Given the description of an element on the screen output the (x, y) to click on. 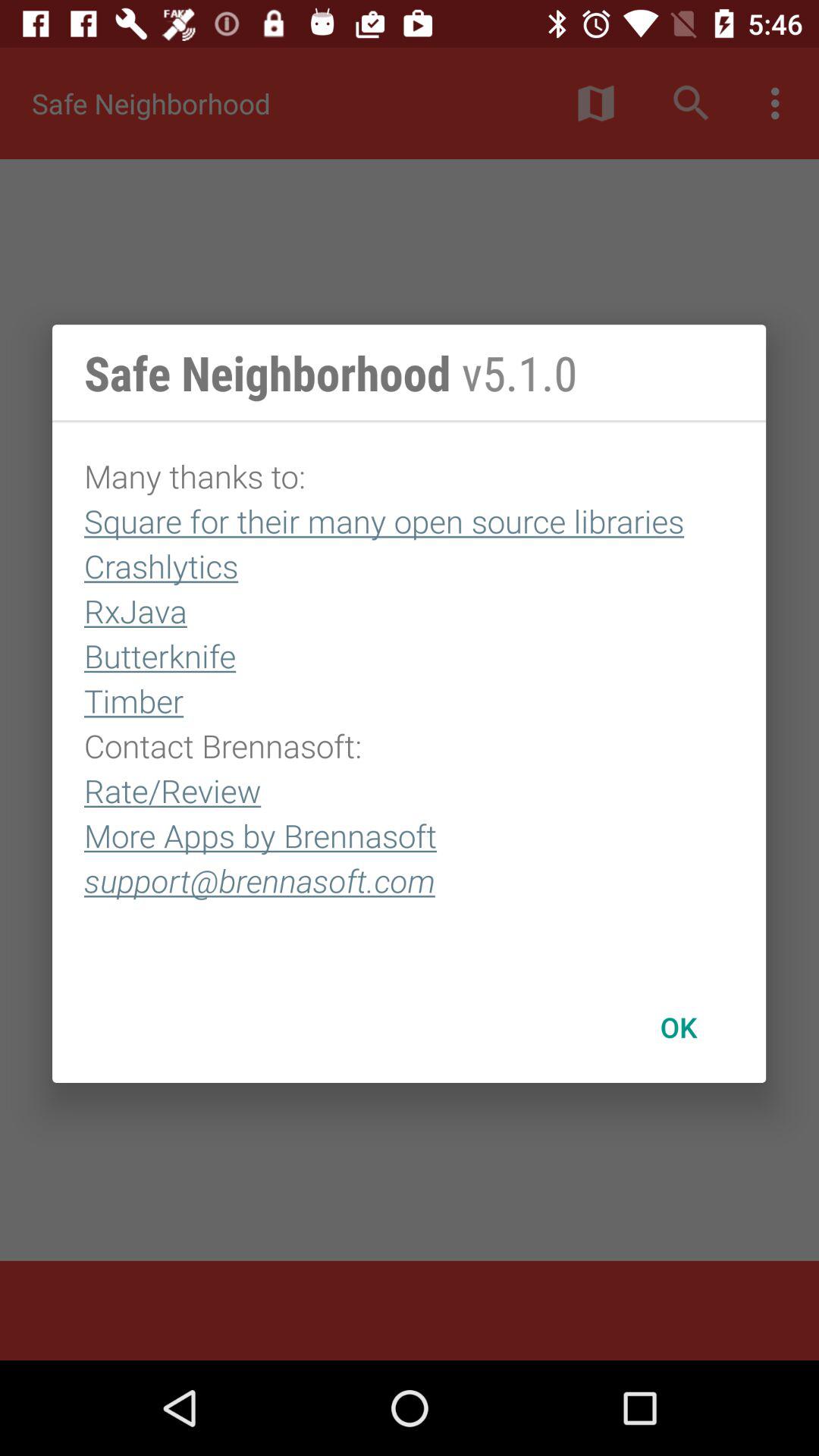
press item above ok item (409, 696)
